Given the description of an element on the screen output the (x, y) to click on. 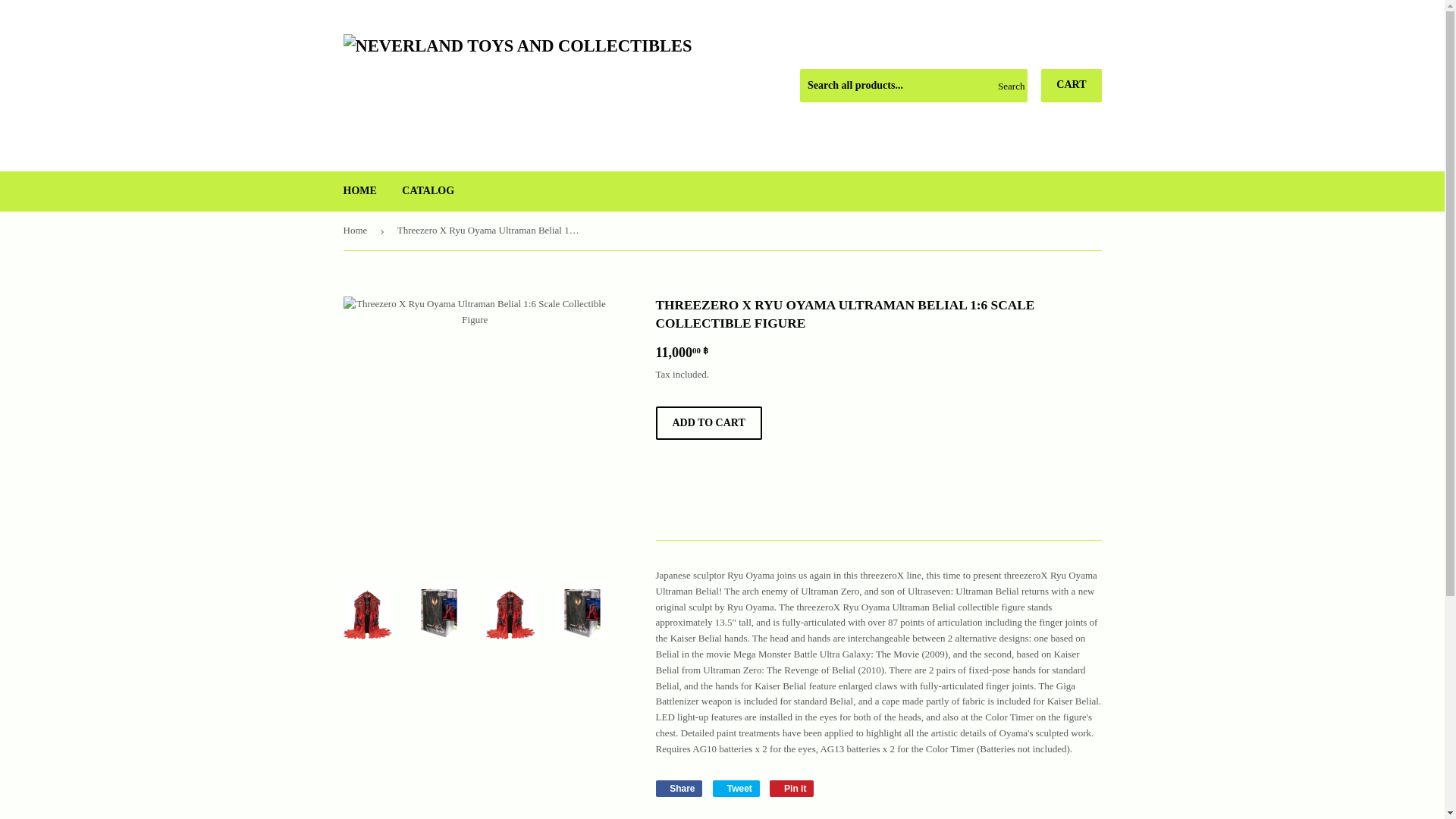
CATALOG (736, 788)
HOME (427, 190)
ADD TO CART (678, 788)
Tweet on Twitter (791, 788)
CART (359, 190)
Share on Facebook (708, 422)
Search (736, 788)
Pin on Pinterest (1070, 85)
